Given the description of an element on the screen output the (x, y) to click on. 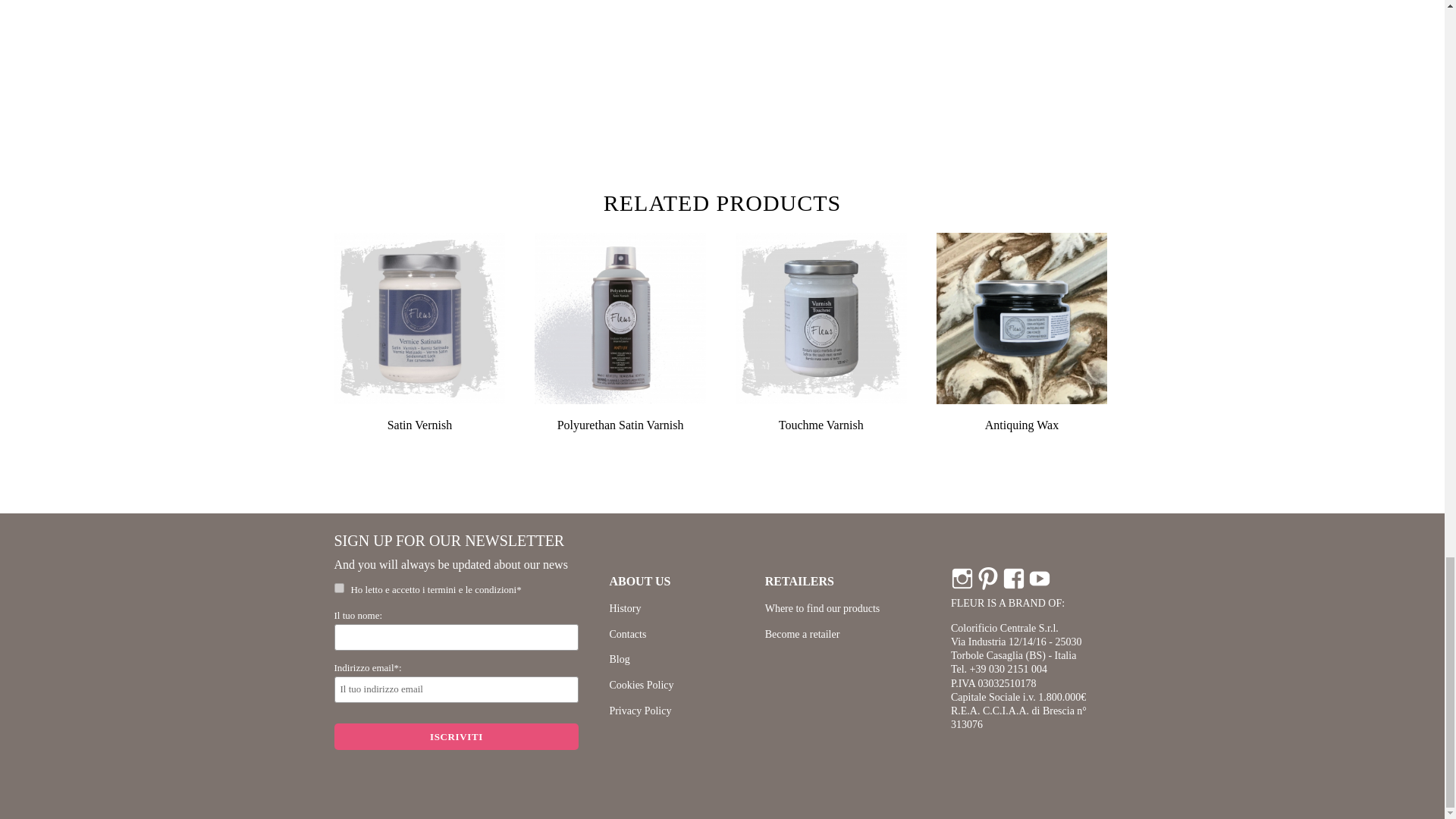
History (624, 608)
Iscriviti (455, 736)
Blog (618, 659)
Become a retailer (802, 633)
1 (338, 587)
Privacy Policy (639, 710)
Contacts (627, 633)
Where to find our products (822, 608)
Cookies Policy (640, 685)
Iscriviti (455, 736)
